Given the description of an element on the screen output the (x, y) to click on. 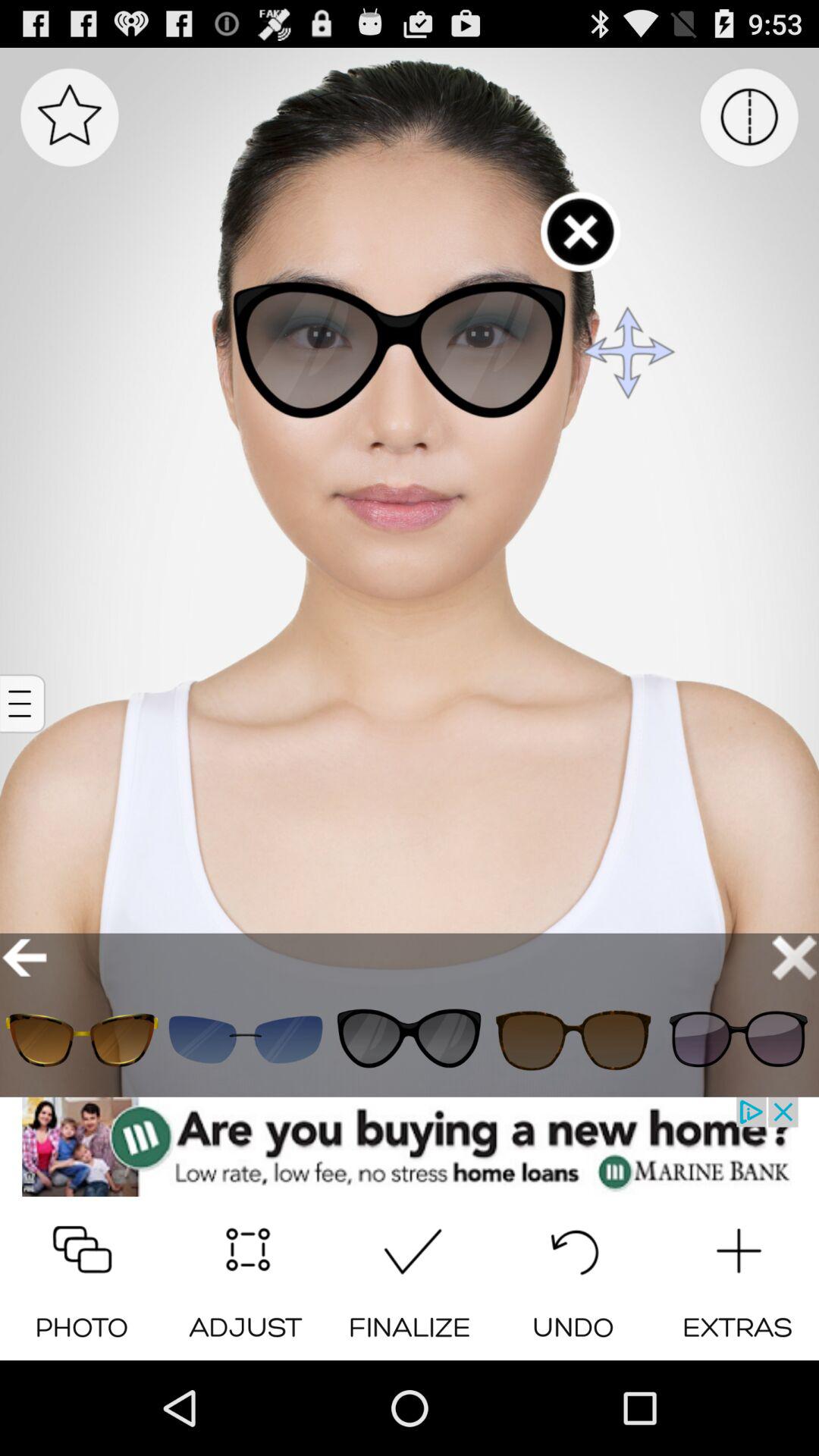
see that style on the model (409, 1039)
